Given the description of an element on the screen output the (x, y) to click on. 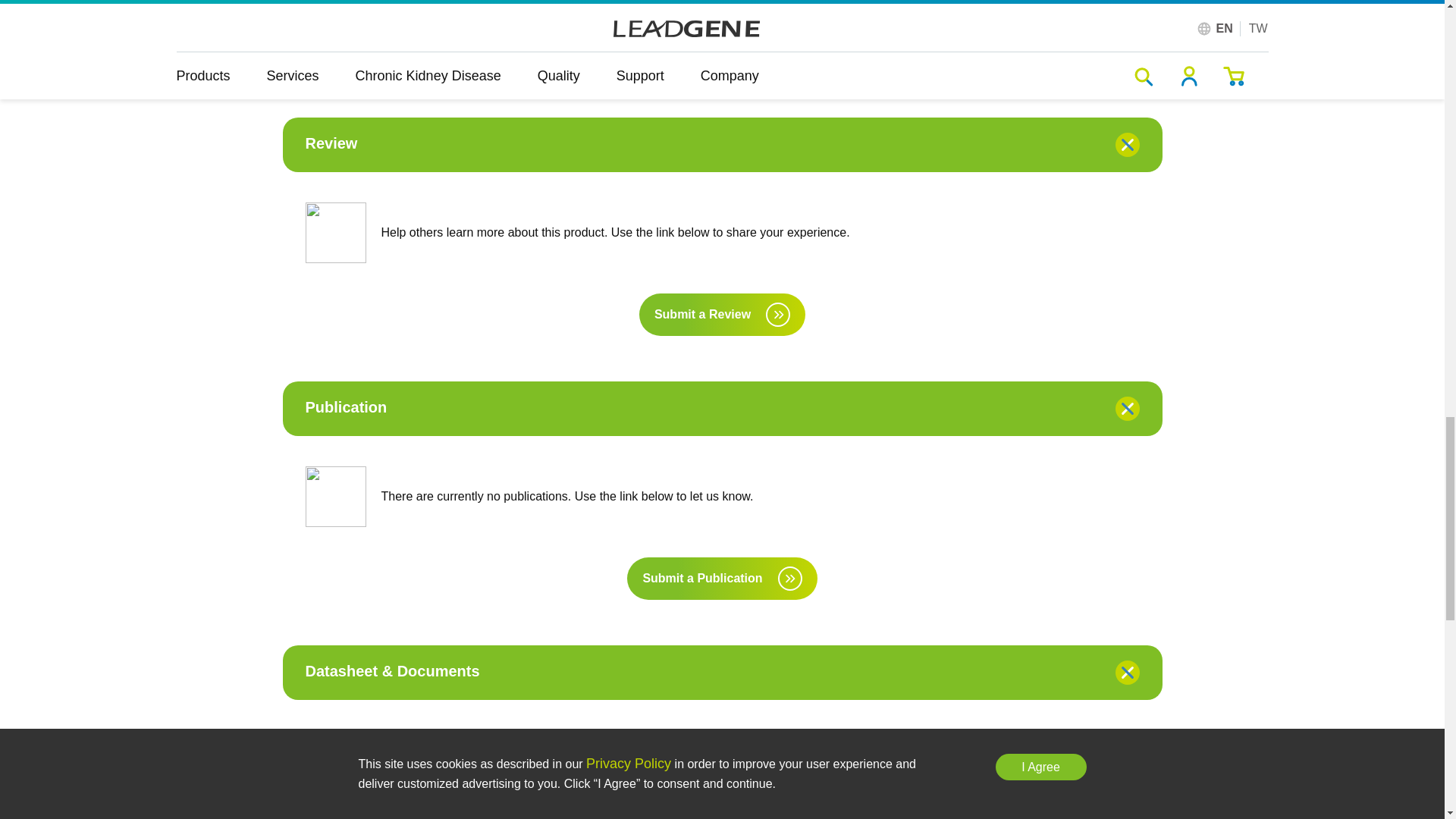
Submit a Review (722, 314)
Manual (1007, 809)
Submit a Publication (721, 578)
Datasheet (435, 809)
